Given the description of an element on the screen output the (x, y) to click on. 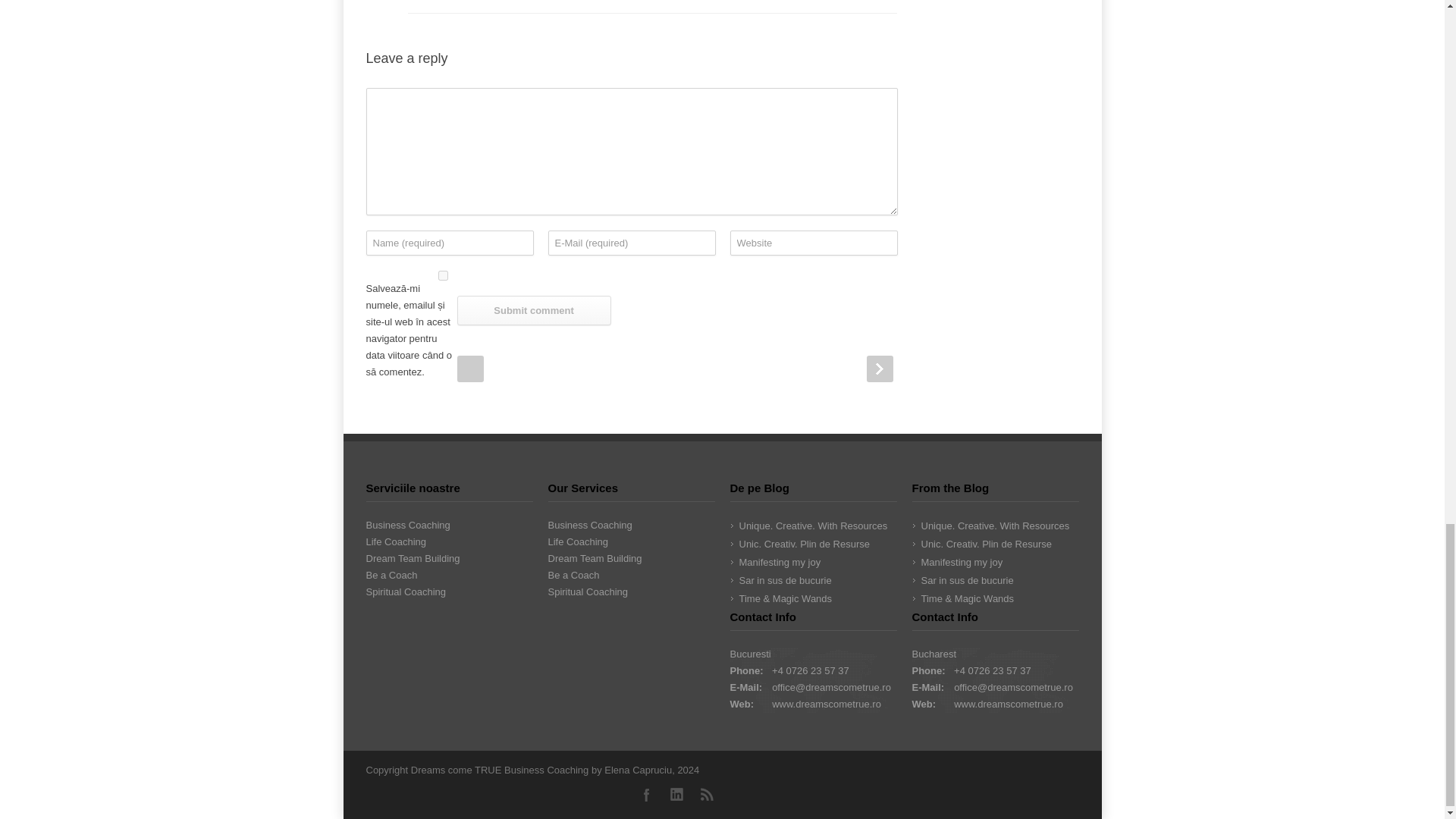
Website (812, 242)
yes (442, 275)
Submit comment (533, 310)
